Given the description of an element on the screen output the (x, y) to click on. 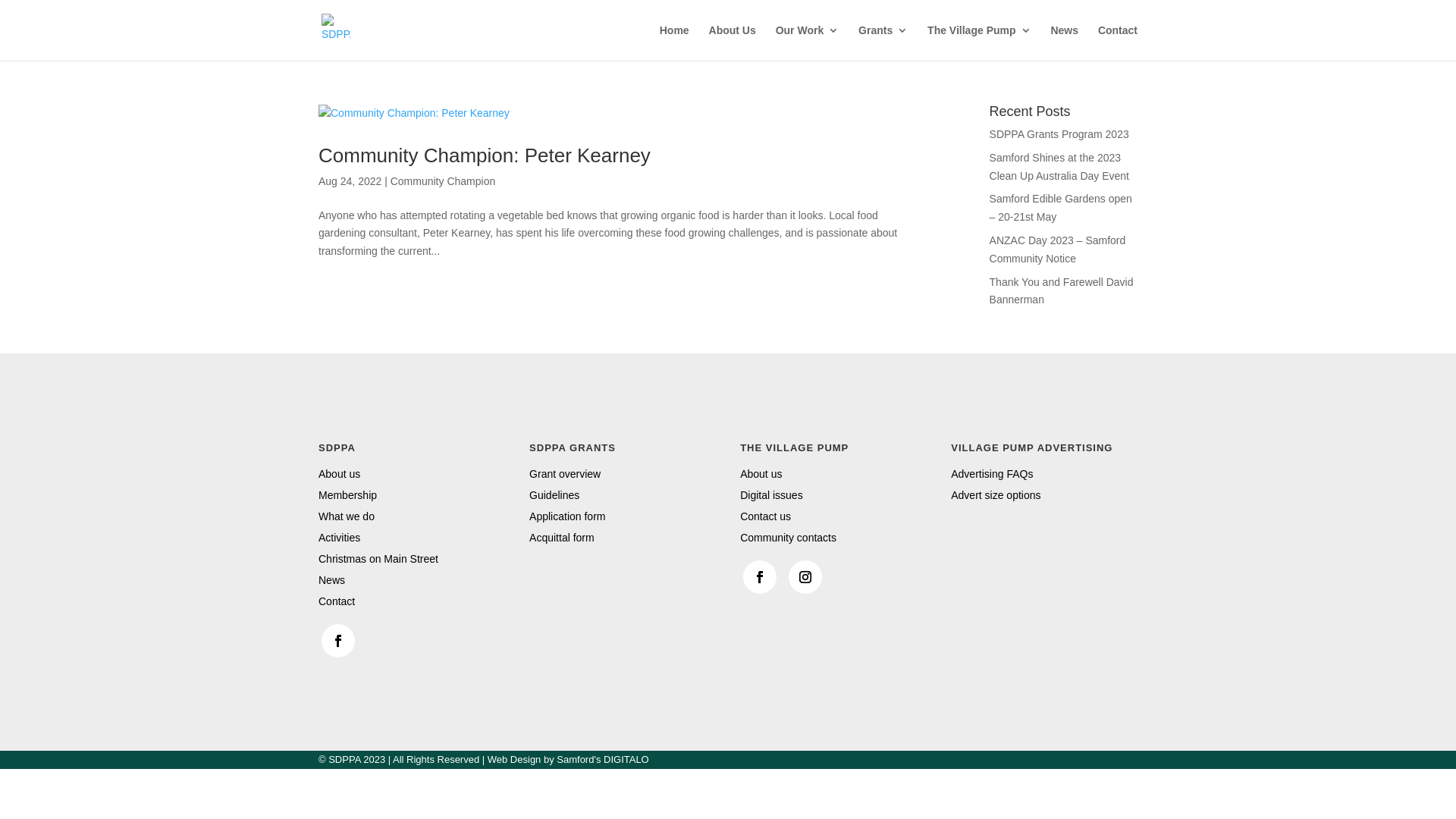
Grant overview Element type: text (564, 473)
Community contacts Element type: text (788, 537)
Advertising FAQs Element type: text (991, 473)
About Us Element type: text (732, 42)
News Element type: text (331, 580)
About us Element type: text (760, 473)
Follow on Facebook Element type: hover (759, 576)
About us Element type: text (339, 473)
Digital issues Element type: text (771, 495)
SDPPA Grants Program 2023 Element type: text (1059, 134)
Our Work Element type: text (807, 42)
Guidelines Element type: text (554, 495)
Application form Element type: text (567, 516)
Advert size options Element type: text (995, 495)
Follow on Facebook Element type: hover (337, 640)
Samford Shines at the 2023 Clean Up Australia Day Event Element type: text (1059, 166)
Christmas on Main Street Element type: text (378, 558)
The Village Pump Element type: text (978, 42)
Grants Element type: text (882, 42)
Membership Element type: text (347, 495)
Web Design by Samford's DIGITALO Element type: text (568, 759)
What we do Element type: text (346, 516)
Activities Element type: text (339, 537)
Contact Element type: text (336, 601)
Acquittal form Element type: text (561, 537)
Follow on Instagram Element type: hover (805, 576)
Contact us Element type: text (765, 516)
News Element type: text (1064, 42)
Home Element type: text (674, 42)
Community Champion Element type: text (442, 181)
Community Champion: Peter Kearney Element type: text (484, 155)
Thank You and Farewell David Bannerman Element type: text (1061, 291)
Contact Element type: text (1117, 42)
